Given the description of an element on the screen output the (x, y) to click on. 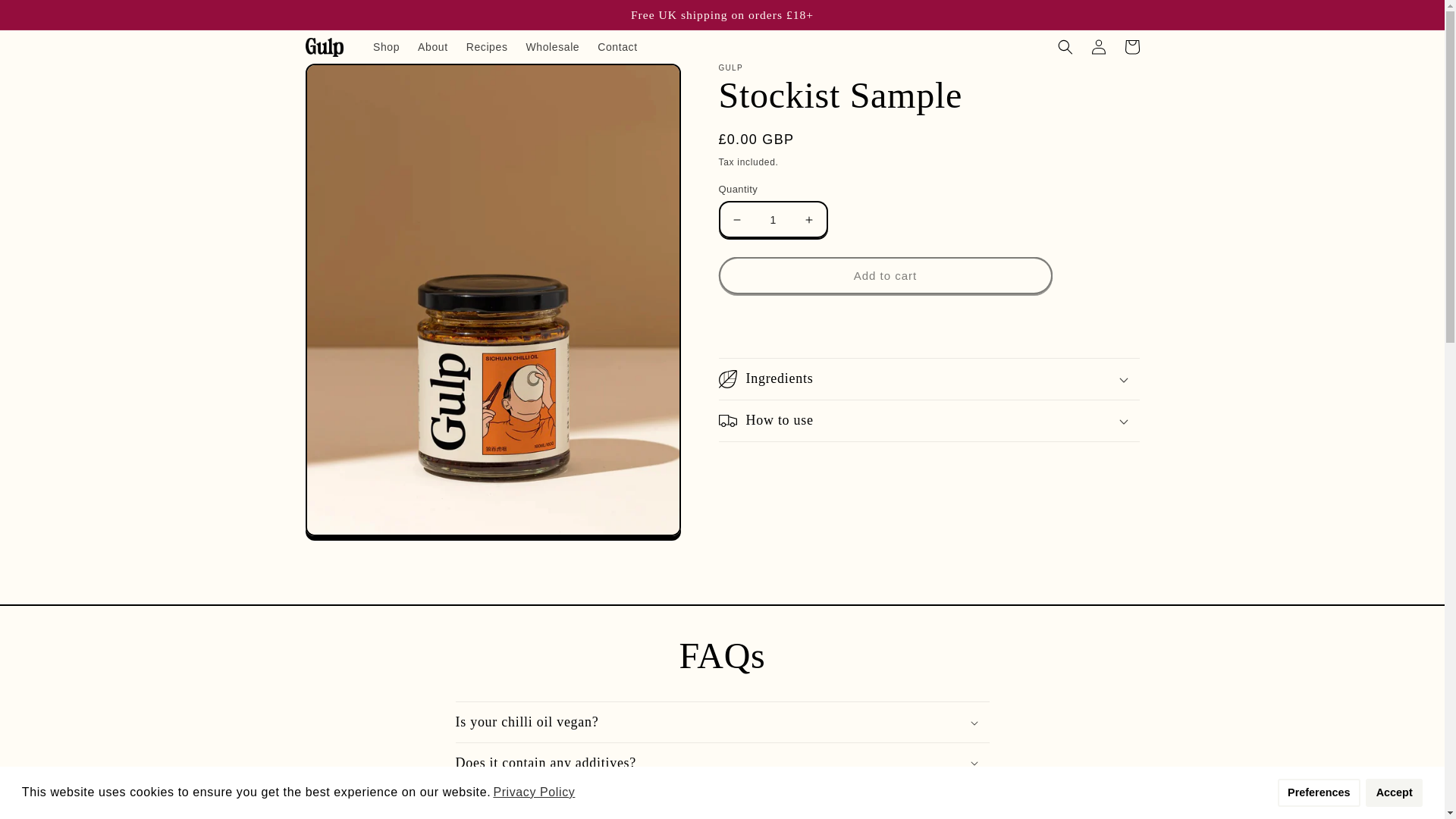
Skip to content (46, 18)
Cart (1131, 46)
Add to cart (885, 275)
Log in (1098, 46)
1 (773, 219)
Wholesale (552, 47)
Contact (617, 47)
Skip to product information (351, 81)
Shop (386, 47)
Increase quantity for Stockist Sample (808, 219)
